Given the description of an element on the screen output the (x, y) to click on. 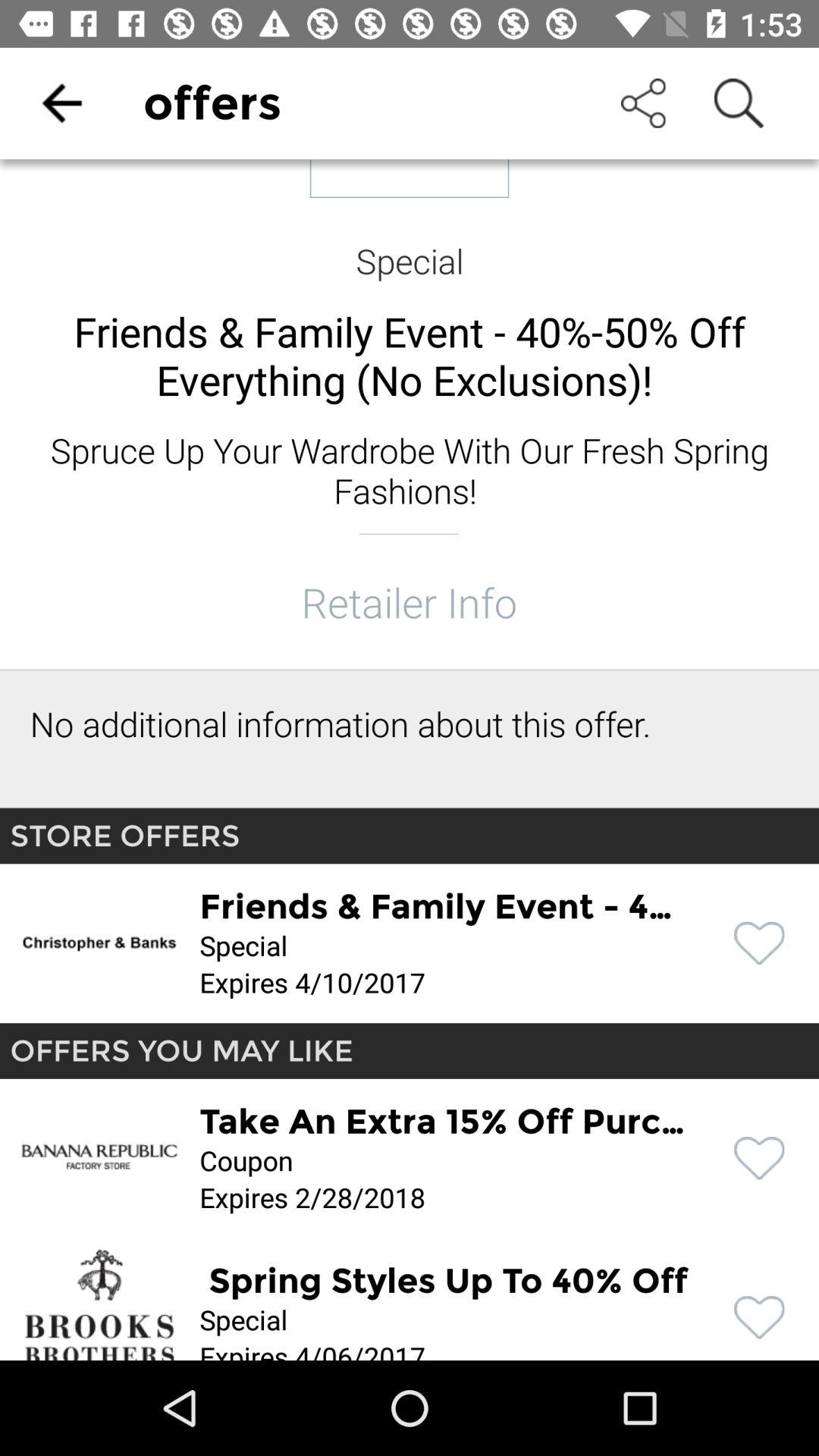
jump until retailer info item (408, 601)
